Given the description of an element on the screen output the (x, y) to click on. 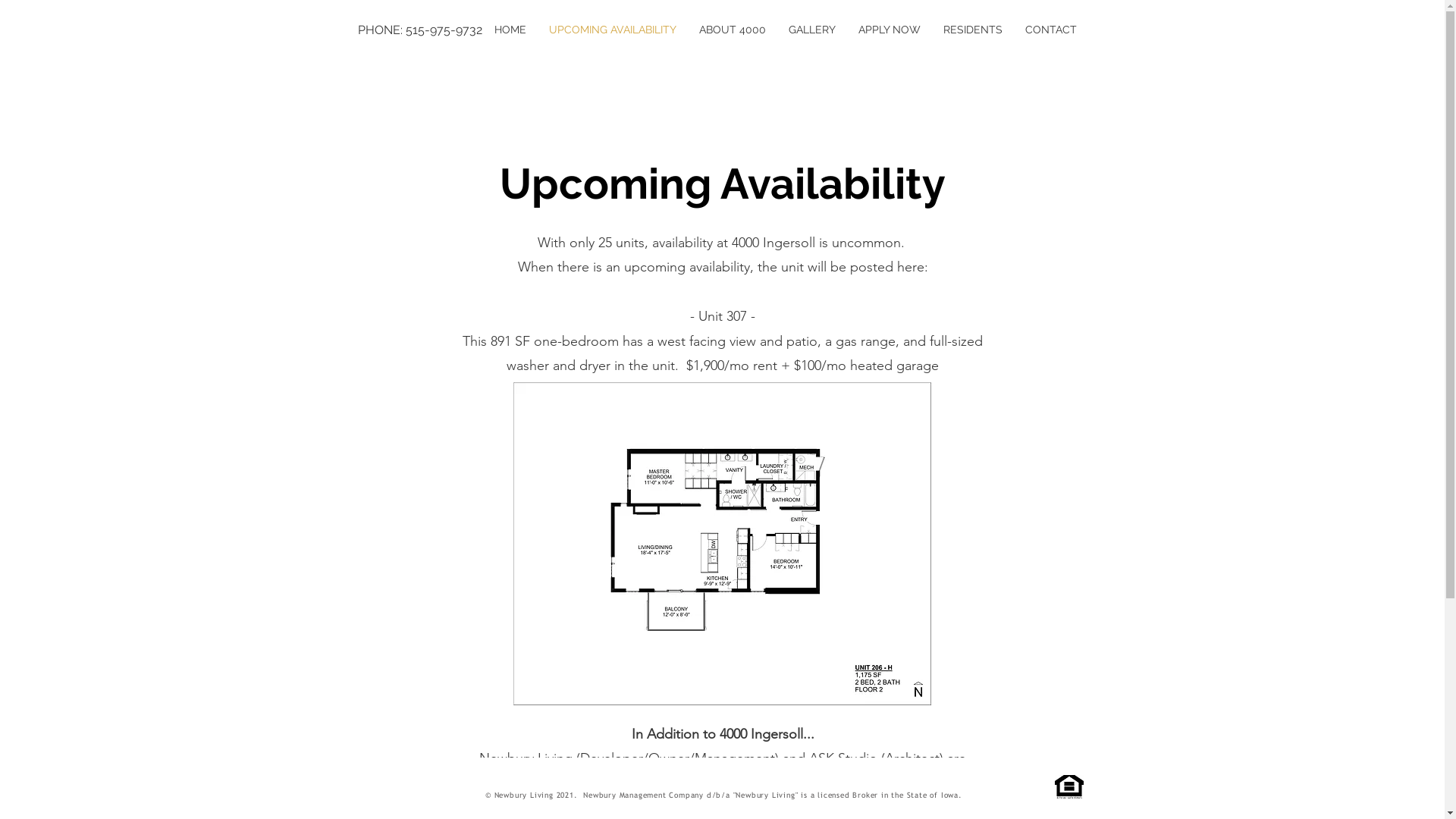
ABOUT 4000 Element type: text (731, 29)
UPCOMING AVAILABILITY Element type: text (611, 29)
CONTACT Element type: text (1050, 29)
APPLY NOW Element type: text (888, 29)
RESIDENTS Element type: text (972, 29)
GALLERY Element type: text (811, 29)
PHONE: 515-975-9732 Element type: text (430, 30)
HOME Element type: text (509, 29)
206.jpg Element type: hover (721, 543)
